Given the description of an element on the screen output the (x, y) to click on. 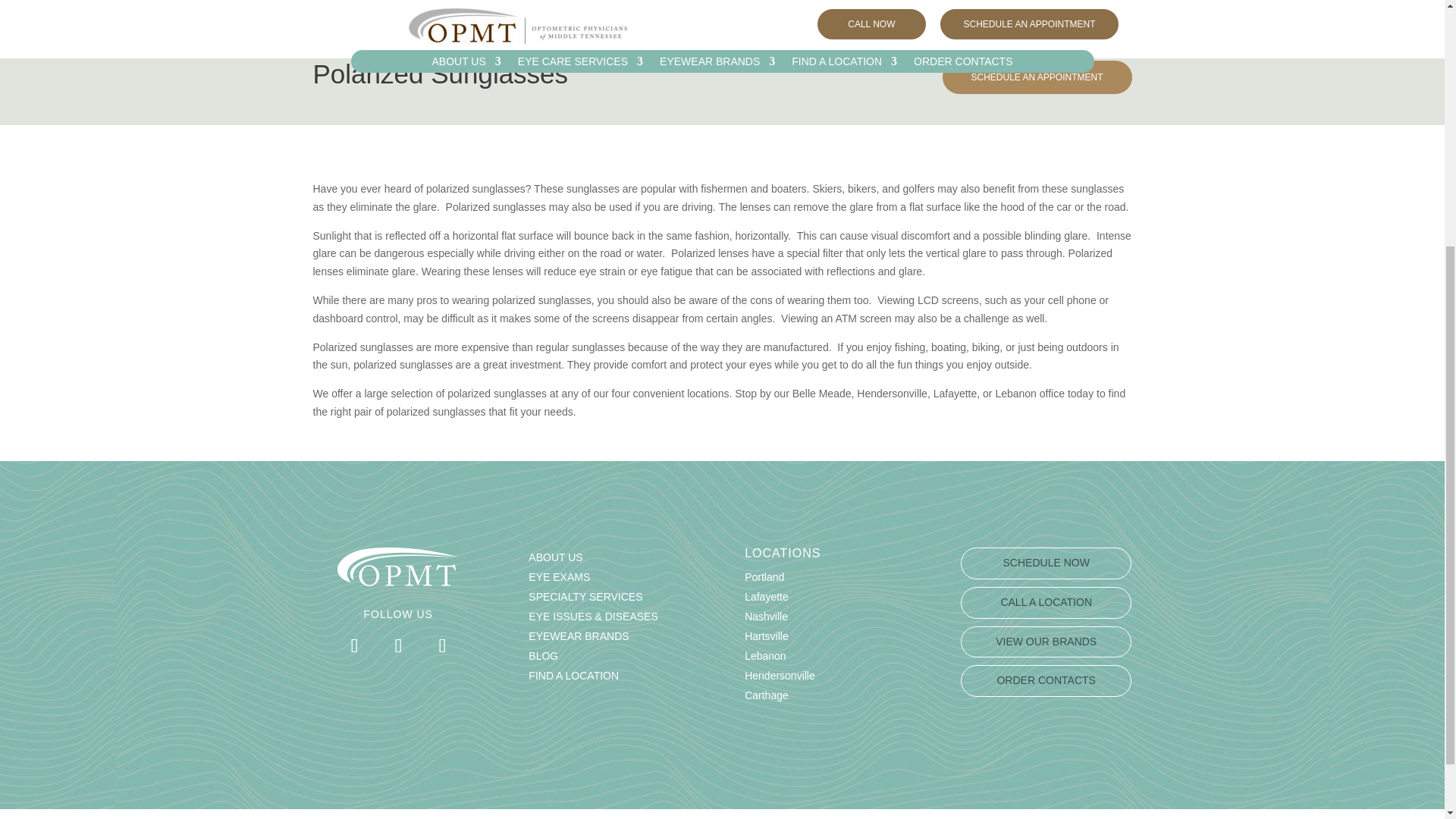
opmt-footer-logo (397, 566)
Follow on X (397, 646)
Follow on Instagram (442, 646)
Follow on Facebook (353, 646)
